Given the description of an element on the screen output the (x, y) to click on. 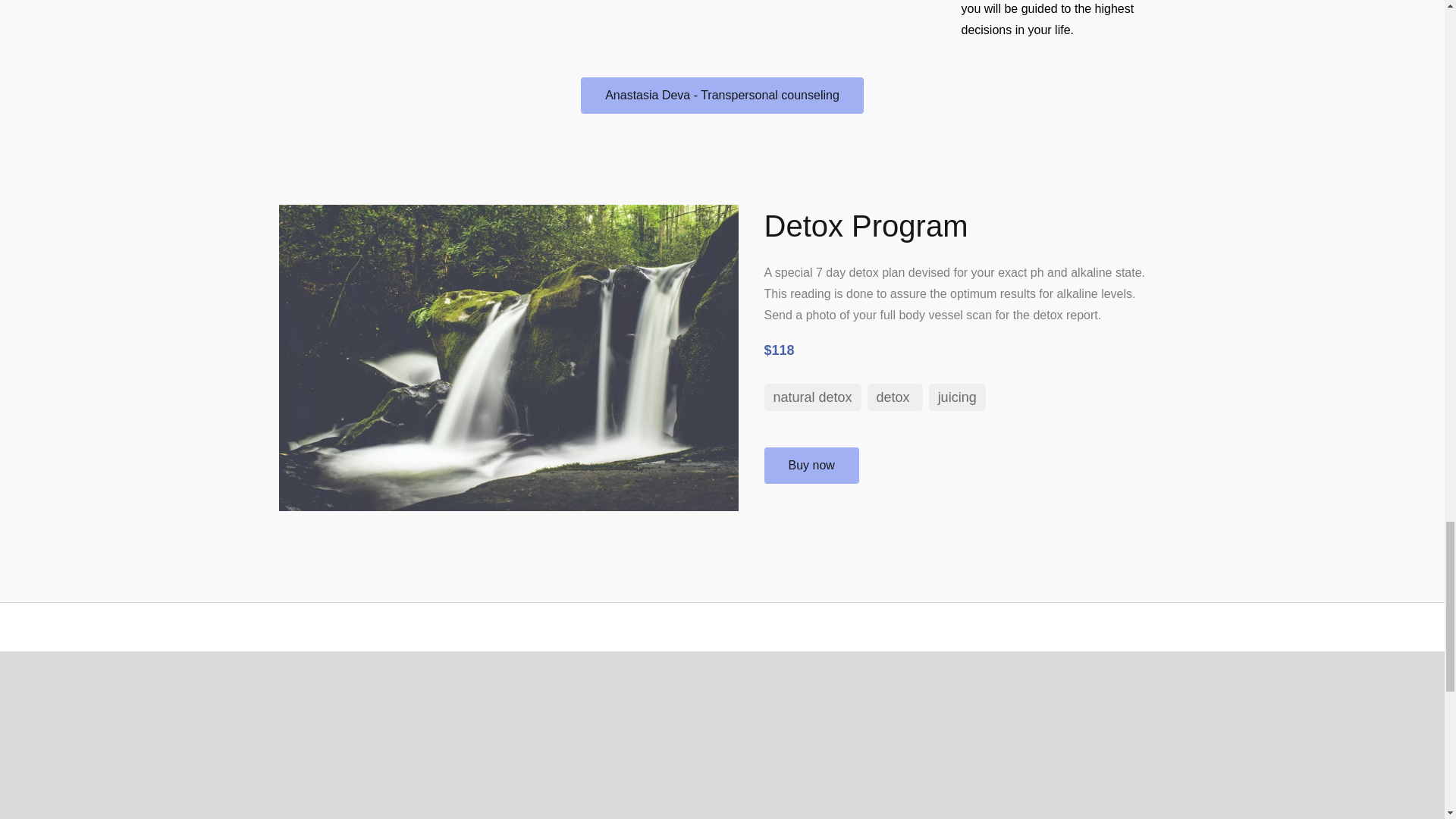
Anastasia Deva - Transpersonal counseling (721, 94)
Buy now (811, 465)
